Given the description of an element on the screen output the (x, y) to click on. 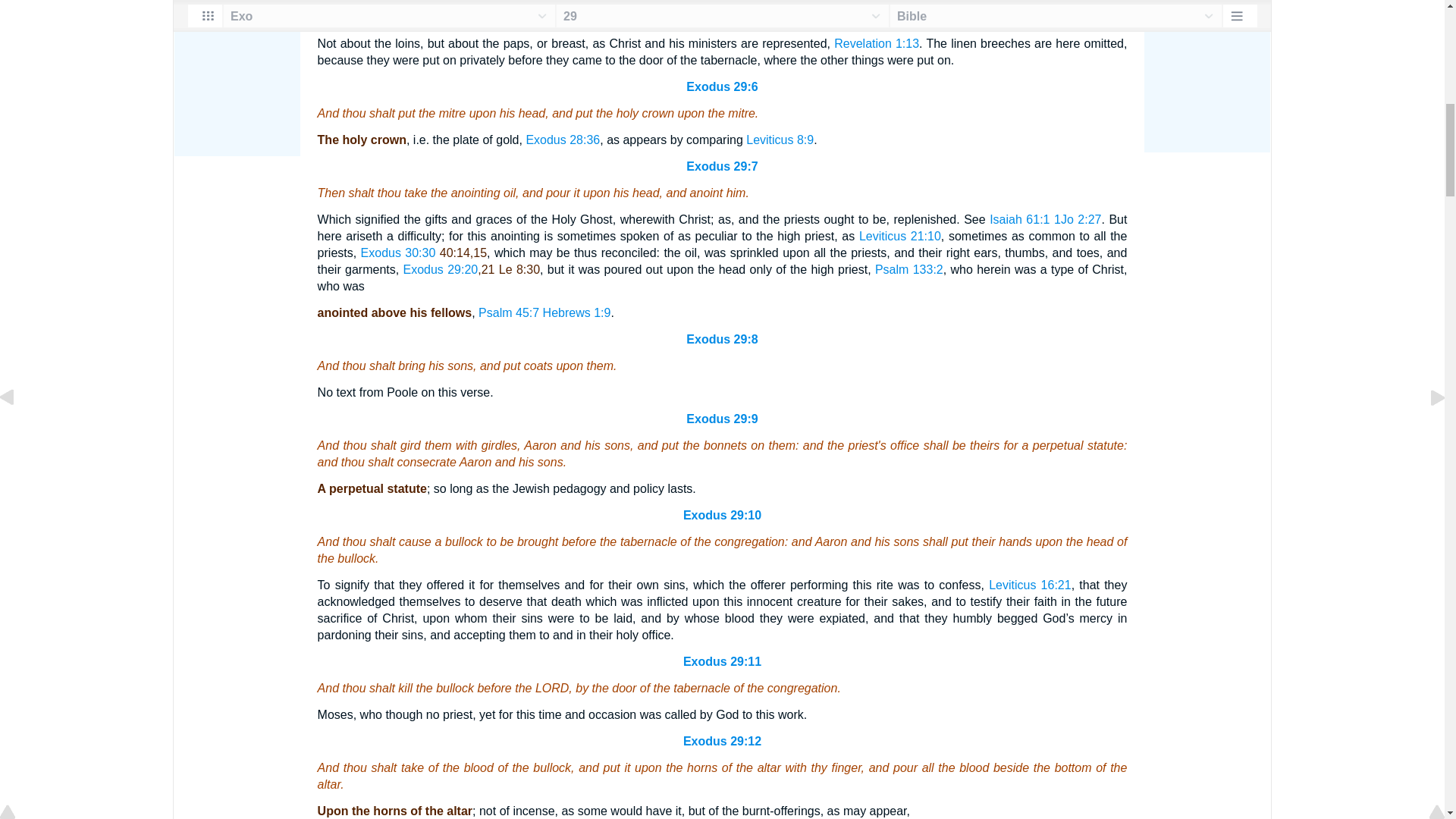
Exodus 28:36 (562, 139)
Revelation 1:13 (876, 42)
Leviticus 8:9 (779, 139)
Exodus 29:6 (721, 86)
